Given the description of an element on the screen output the (x, y) to click on. 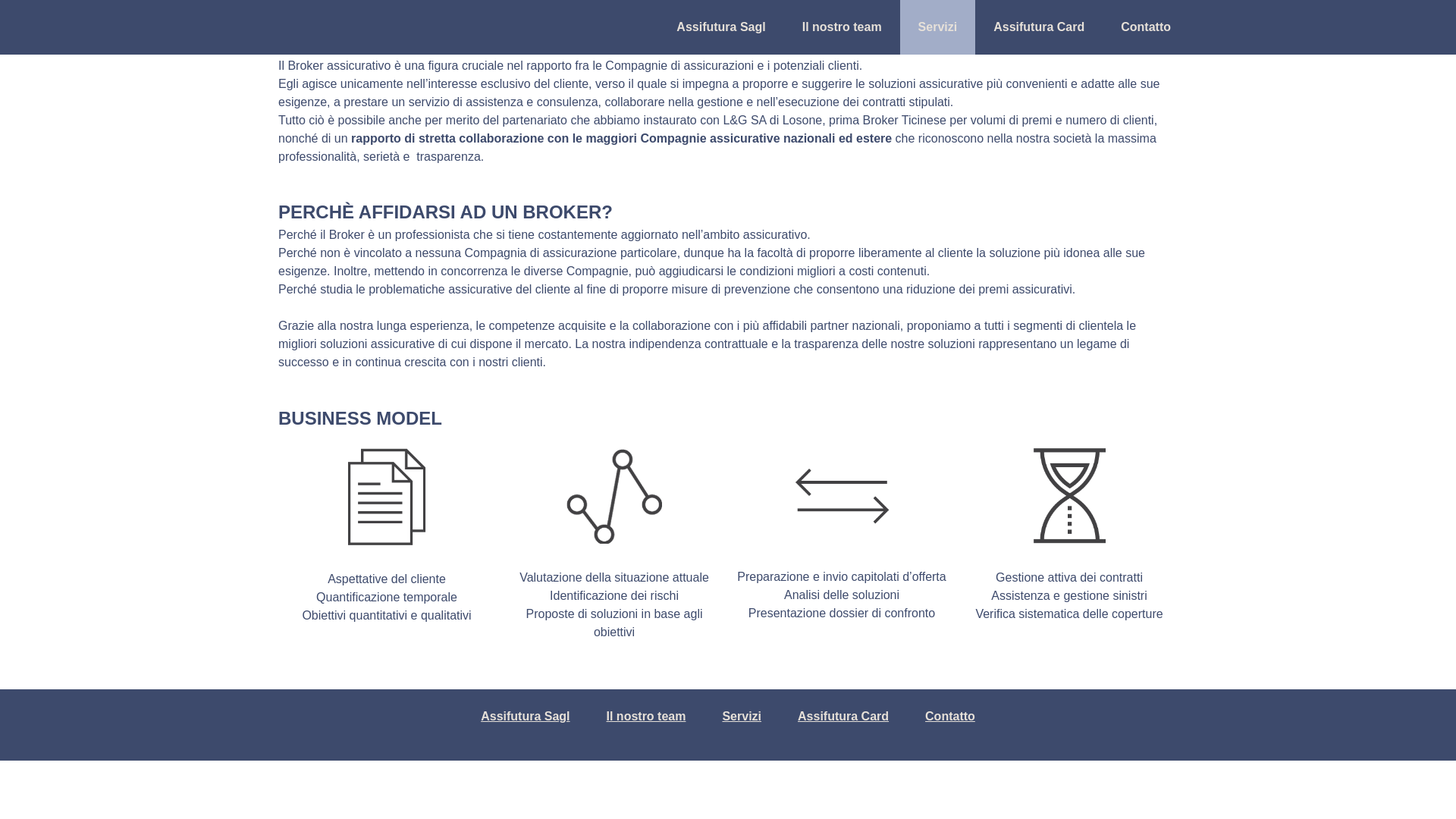
Servizi Element type: text (937, 27)
Contatto Element type: text (1145, 27)
Assifutura Sagl Element type: text (524, 716)
Assifutura Card Element type: text (1038, 27)
Assifutura Card Element type: text (842, 716)
Il nostro team Element type: text (646, 716)
Contatto Element type: text (950, 716)
Il nostro team Element type: text (842, 27)
Servizi Element type: text (741, 716)
Assifutura Sagl Element type: text (720, 27)
